Given the description of an element on the screen output the (x, y) to click on. 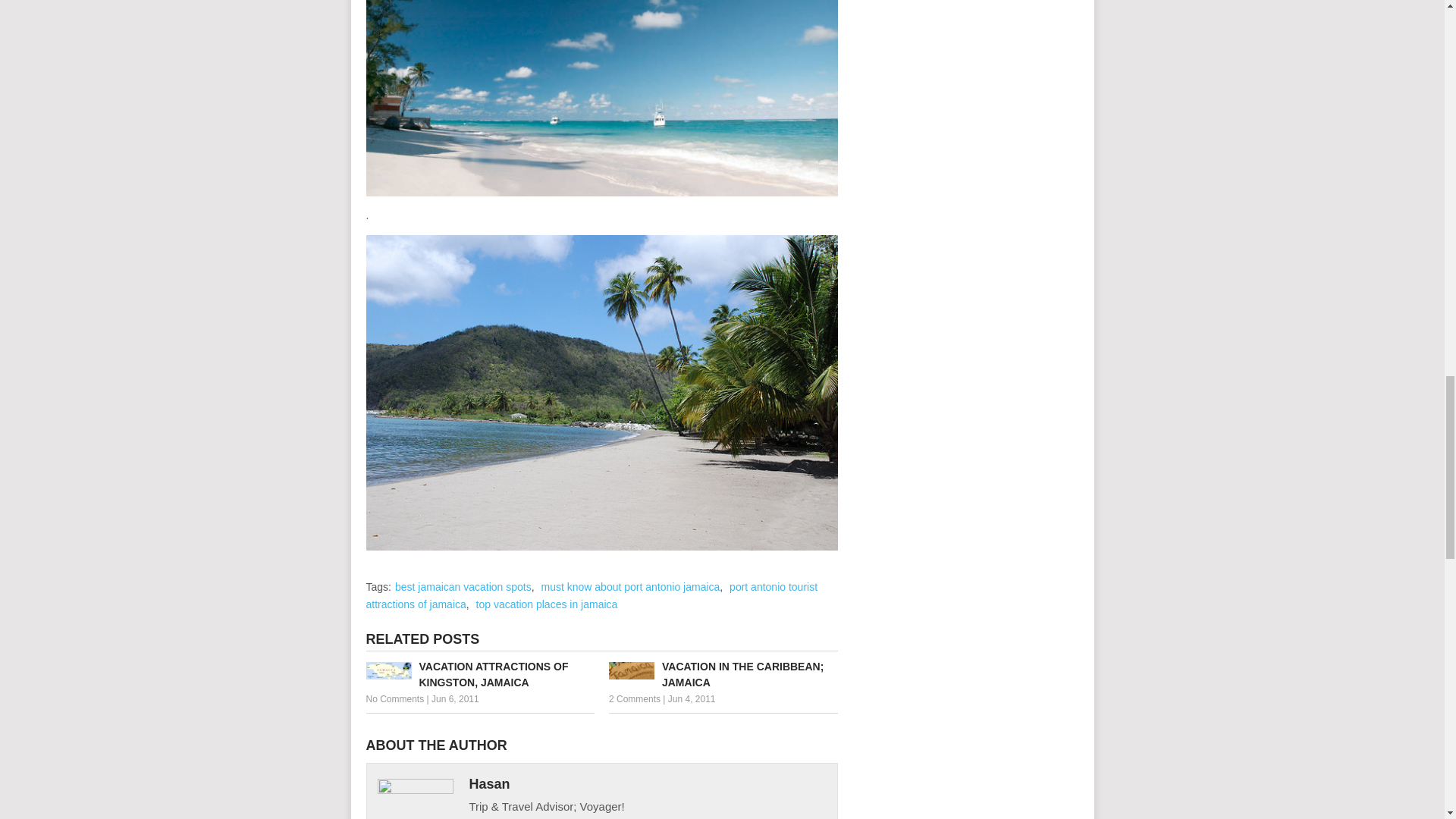
best jamaican vacation spots (462, 586)
Vacation In The Caribbean; Jamaica (723, 675)
port antonio tourist attractions of jamaica (590, 595)
top vacation places in jamaica (546, 604)
Vacation Attractions Of Kingston, Jamaica (479, 675)
No Comments (394, 698)
VACATION ATTRACTIONS OF KINGSTON, JAMAICA (479, 675)
2 Comments (634, 698)
VACATION IN THE CARIBBEAN; JAMAICA (723, 675)
